Given the description of an element on the screen output the (x, y) to click on. 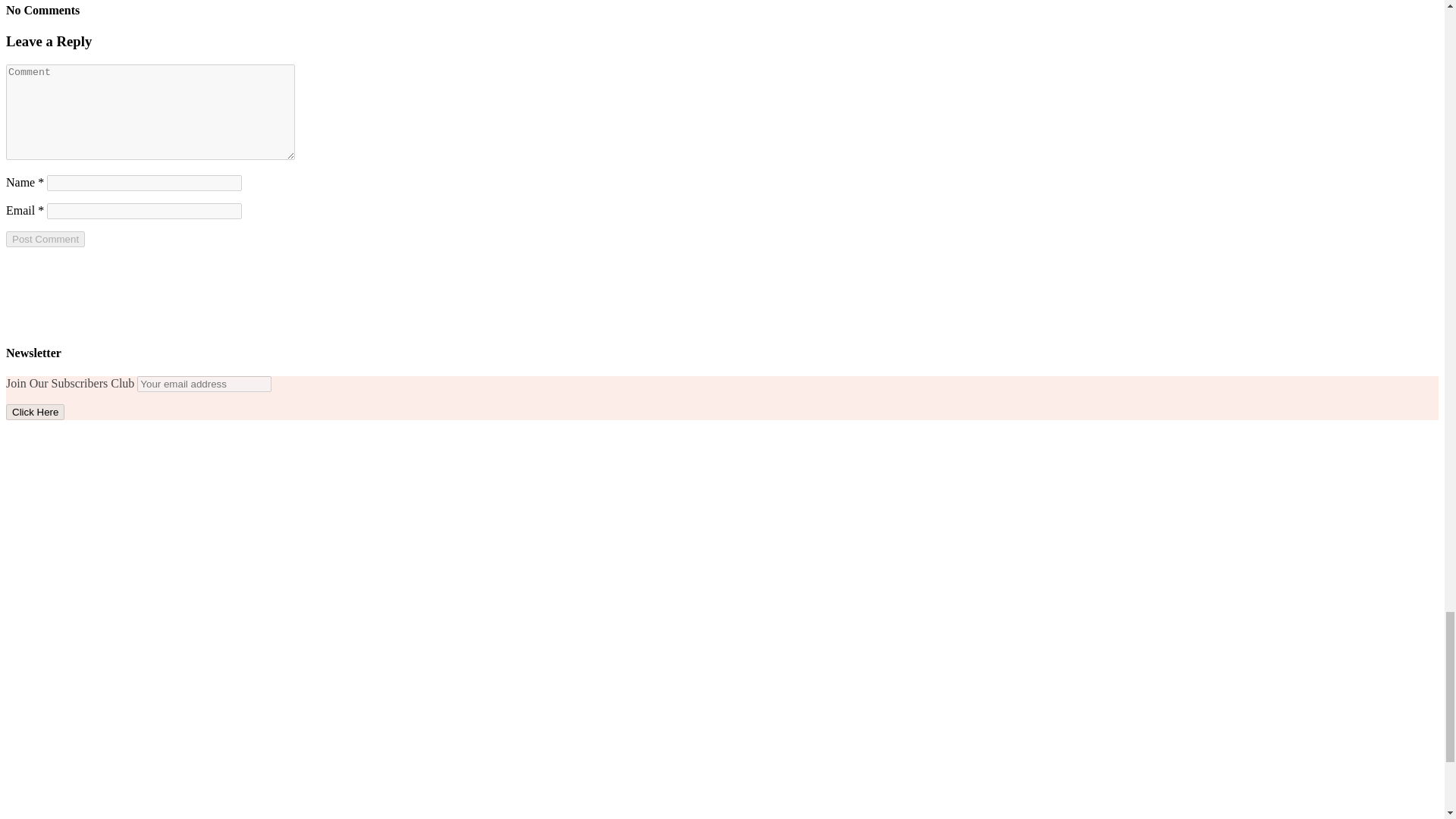
Click Here (34, 412)
Post Comment (44, 238)
Post Comment (44, 238)
Click Here (34, 412)
